Given the description of an element on the screen output the (x, y) to click on. 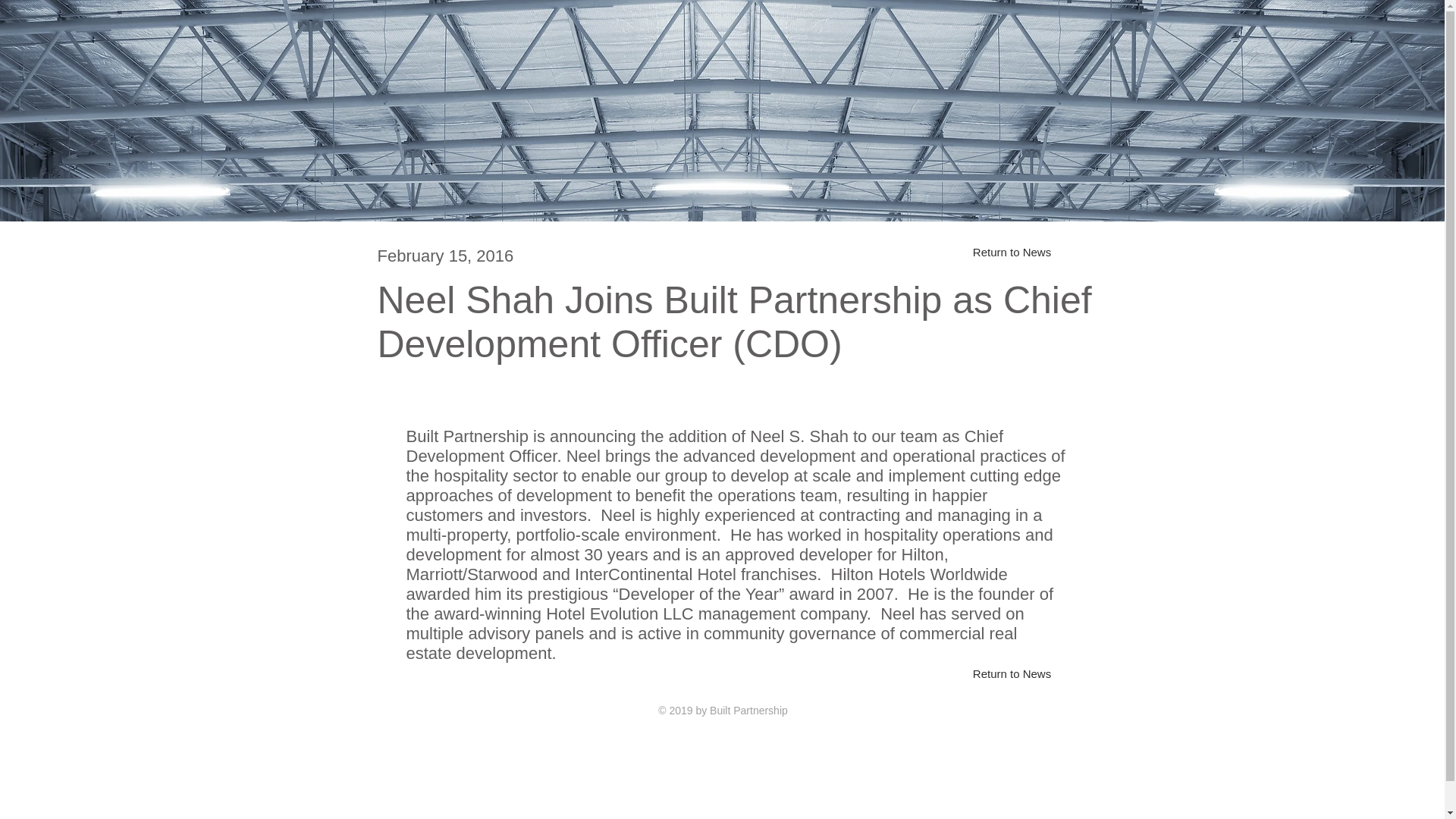
Return to News (1011, 673)
Return to News (1011, 251)
